Given the description of an element on the screen output the (x, y) to click on. 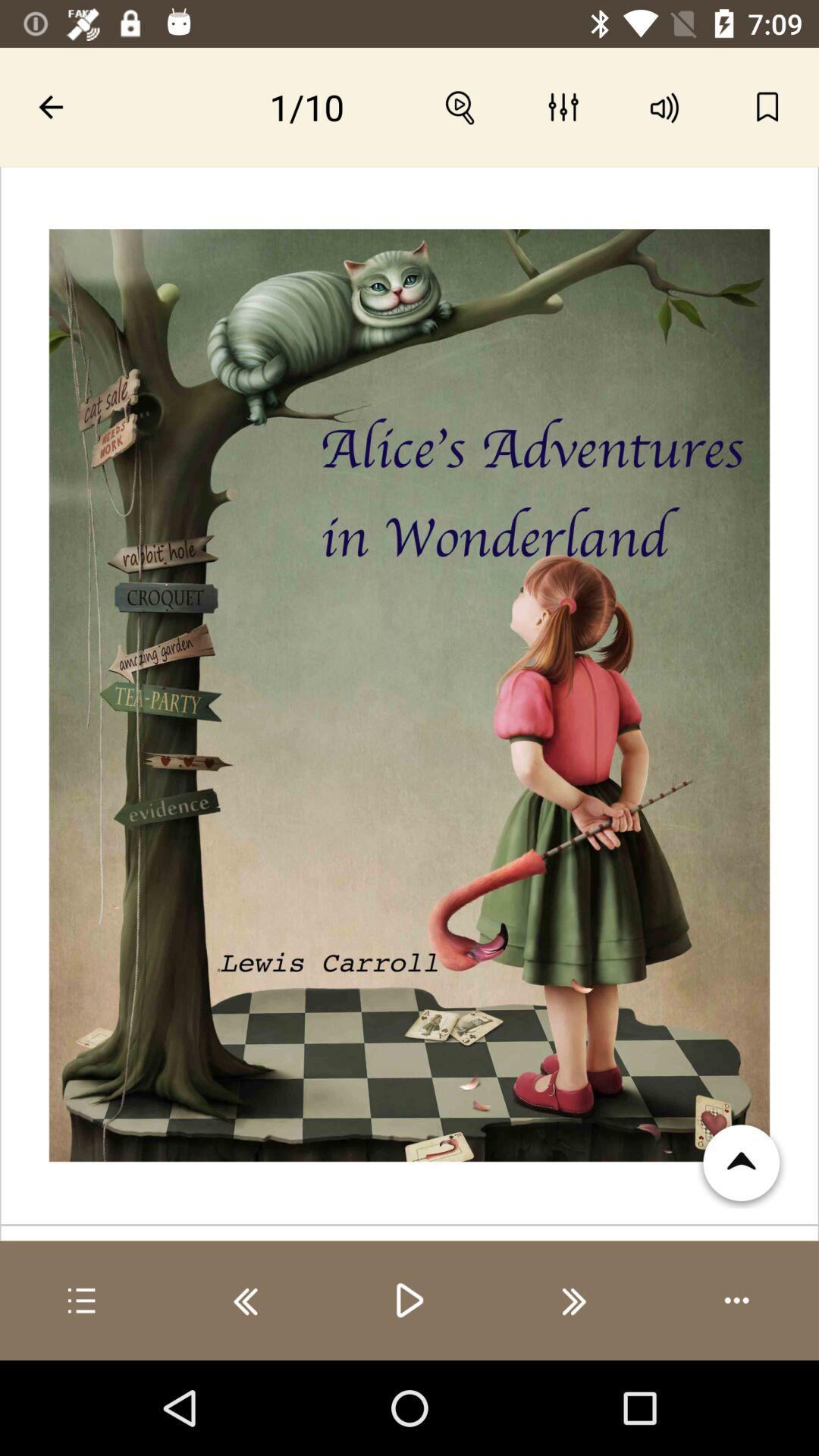
go back a page (245, 1300)
